Given the description of an element on the screen output the (x, y) to click on. 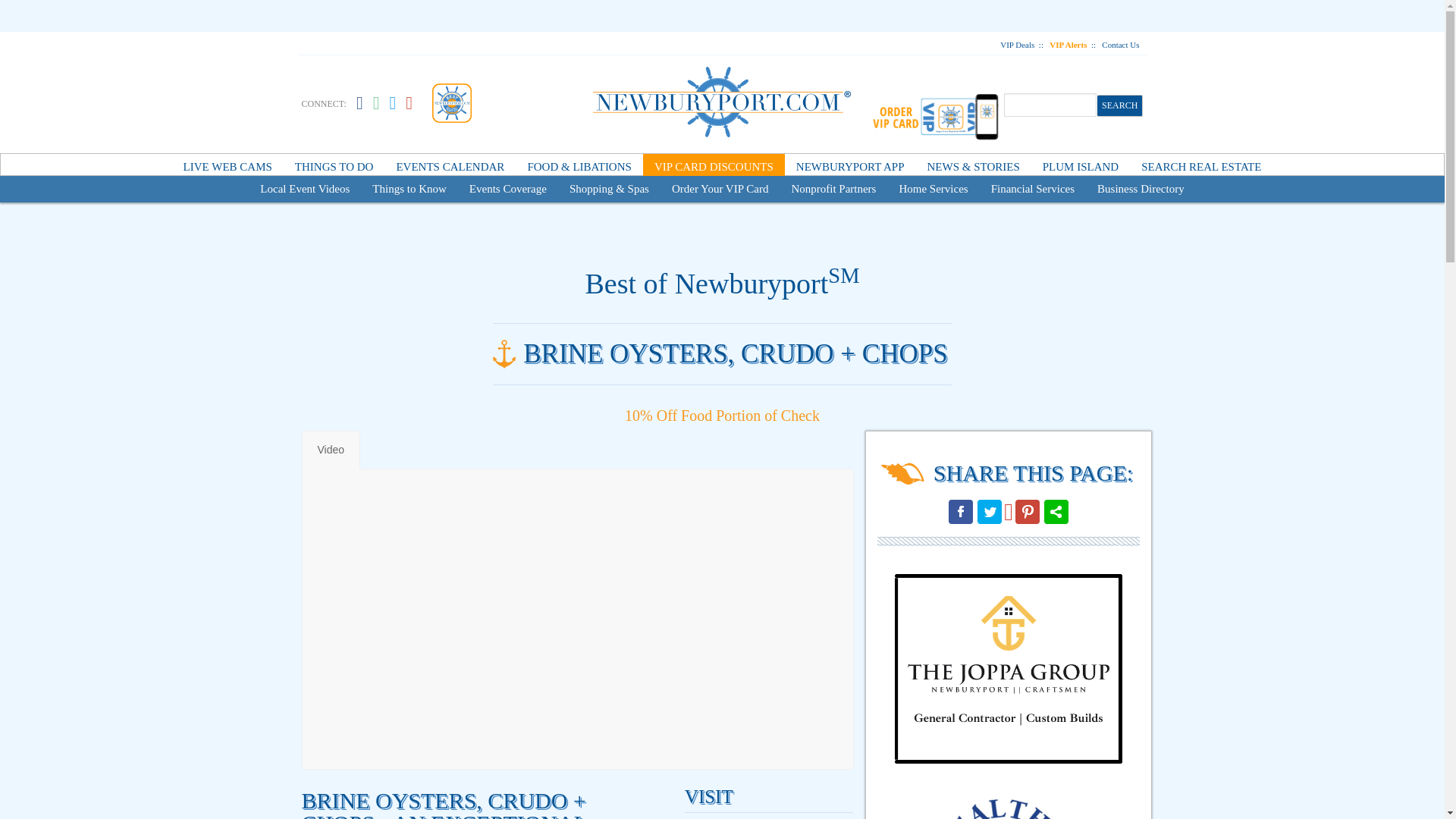
VIP Deals (1016, 44)
Business Directory (1140, 189)
Financial Services (1032, 189)
Contact Us (1120, 44)
Order Your VIP Card (720, 189)
EVENTS CALENDAR (449, 166)
Events Coverage (507, 189)
Search (1119, 105)
SEARCH REAL ESTATE (1200, 166)
VIP CARD DISCOUNTS (713, 166)
Video (331, 449)
Home Services (932, 189)
VIP Alerts (1067, 44)
THINGS TO DO (334, 166)
